Given the description of an element on the screen output the (x, y) to click on. 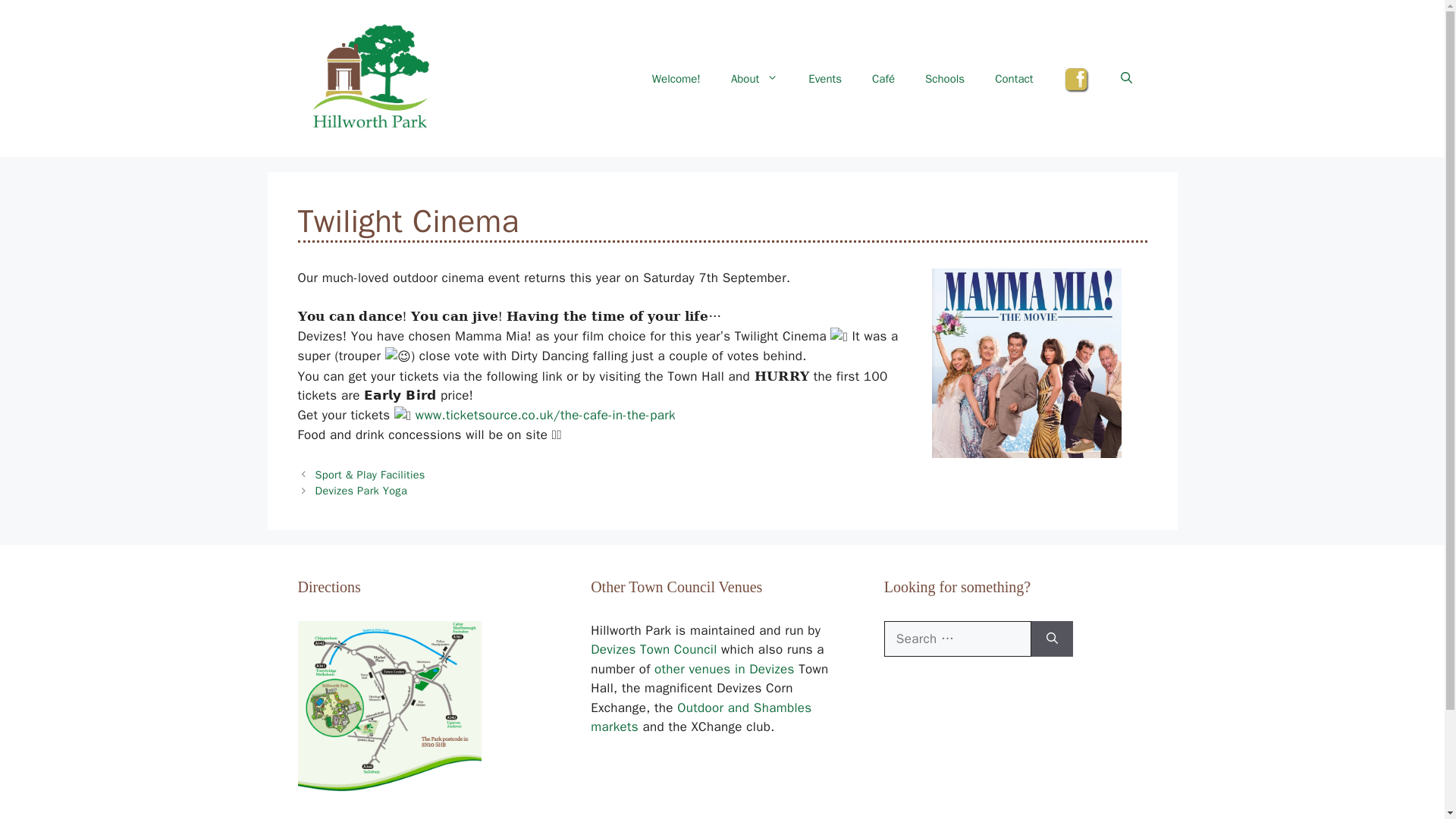
About (754, 78)
Devizes Park Yoga (361, 490)
Contact (1013, 78)
Search for: (956, 638)
Welcome! (676, 78)
Schools (944, 78)
Events (825, 78)
